Given the description of an element on the screen output the (x, y) to click on. 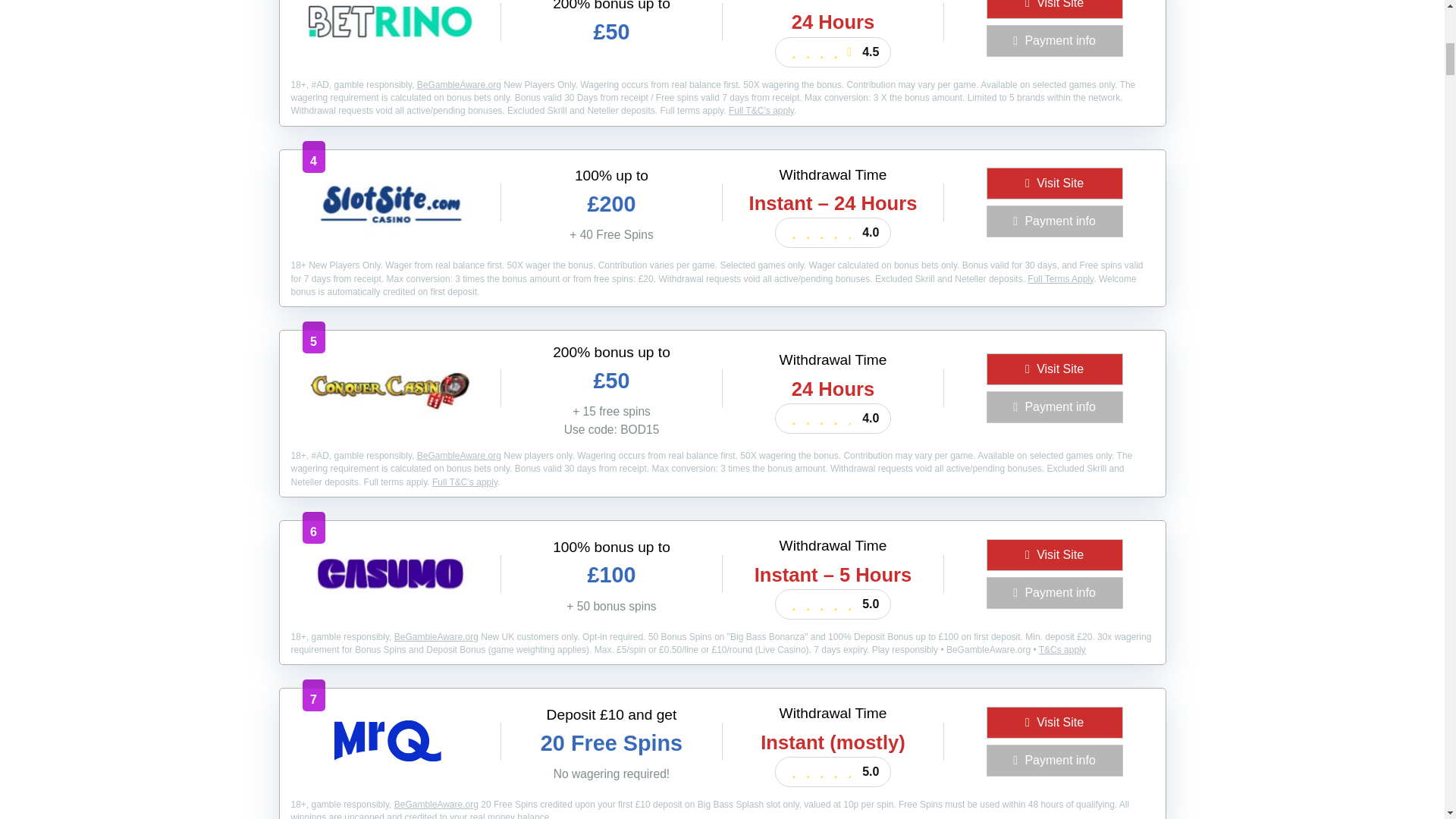
Visit Site (1053, 183)
Payment info (1053, 40)
Visit Site (1053, 9)
Betrino Casino Review (389, 47)
